Given the description of an element on the screen output the (x, y) to click on. 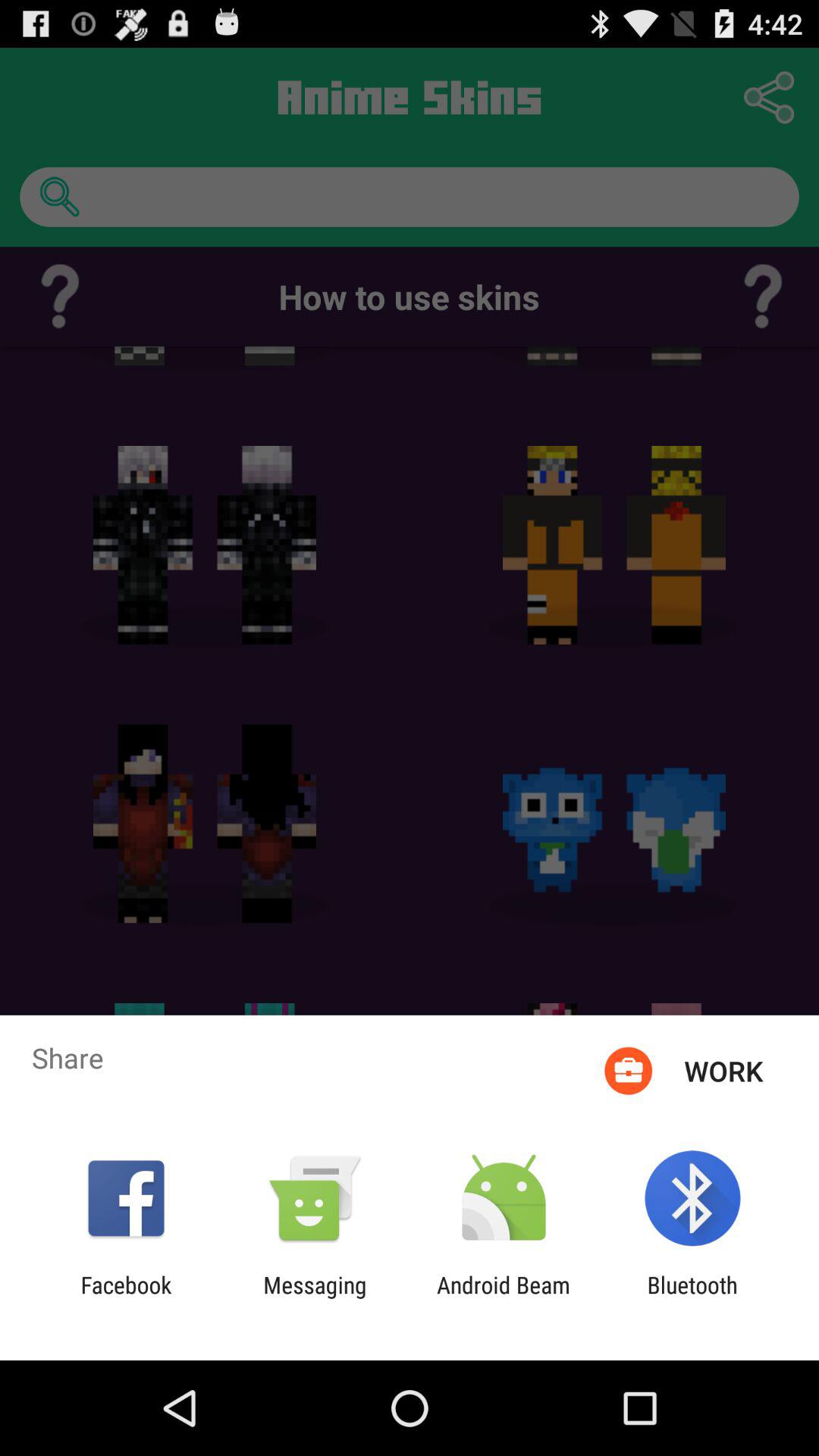
tap messaging (314, 1298)
